Given the description of an element on the screen output the (x, y) to click on. 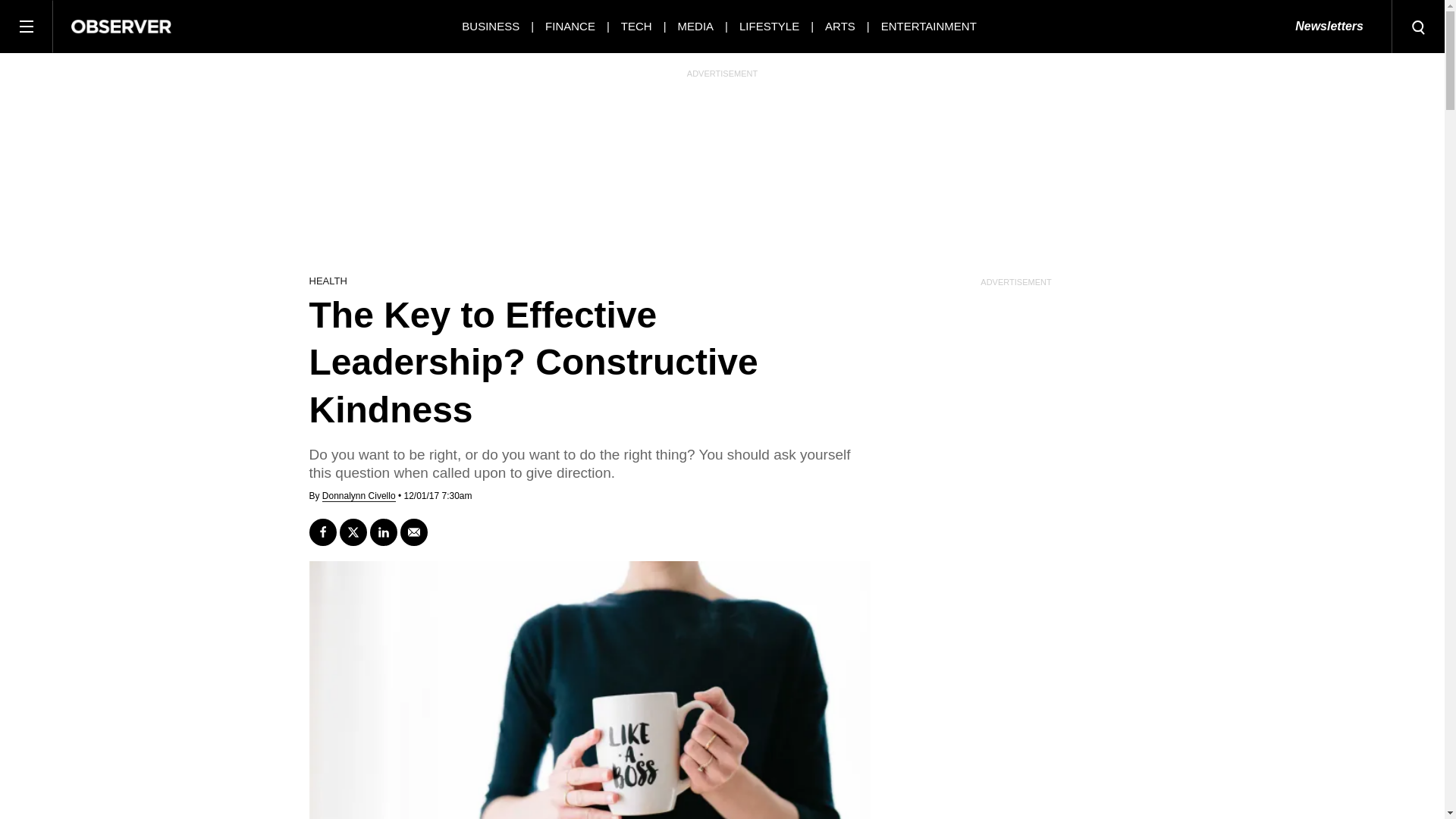
FINANCE (569, 25)
Tweet (352, 532)
Newsletters (1329, 26)
Send email (414, 532)
Observer (121, 26)
MEDIA (696, 25)
TECH (636, 25)
BUSINESS (490, 25)
ENTERTAINMENT (928, 25)
LIFESTYLE (769, 25)
ARTS (840, 25)
View All Posts by Donnalynn Civello (358, 496)
Share on Facebook (322, 532)
Share on LinkedIn (383, 532)
